Given the description of an element on the screen output the (x, y) to click on. 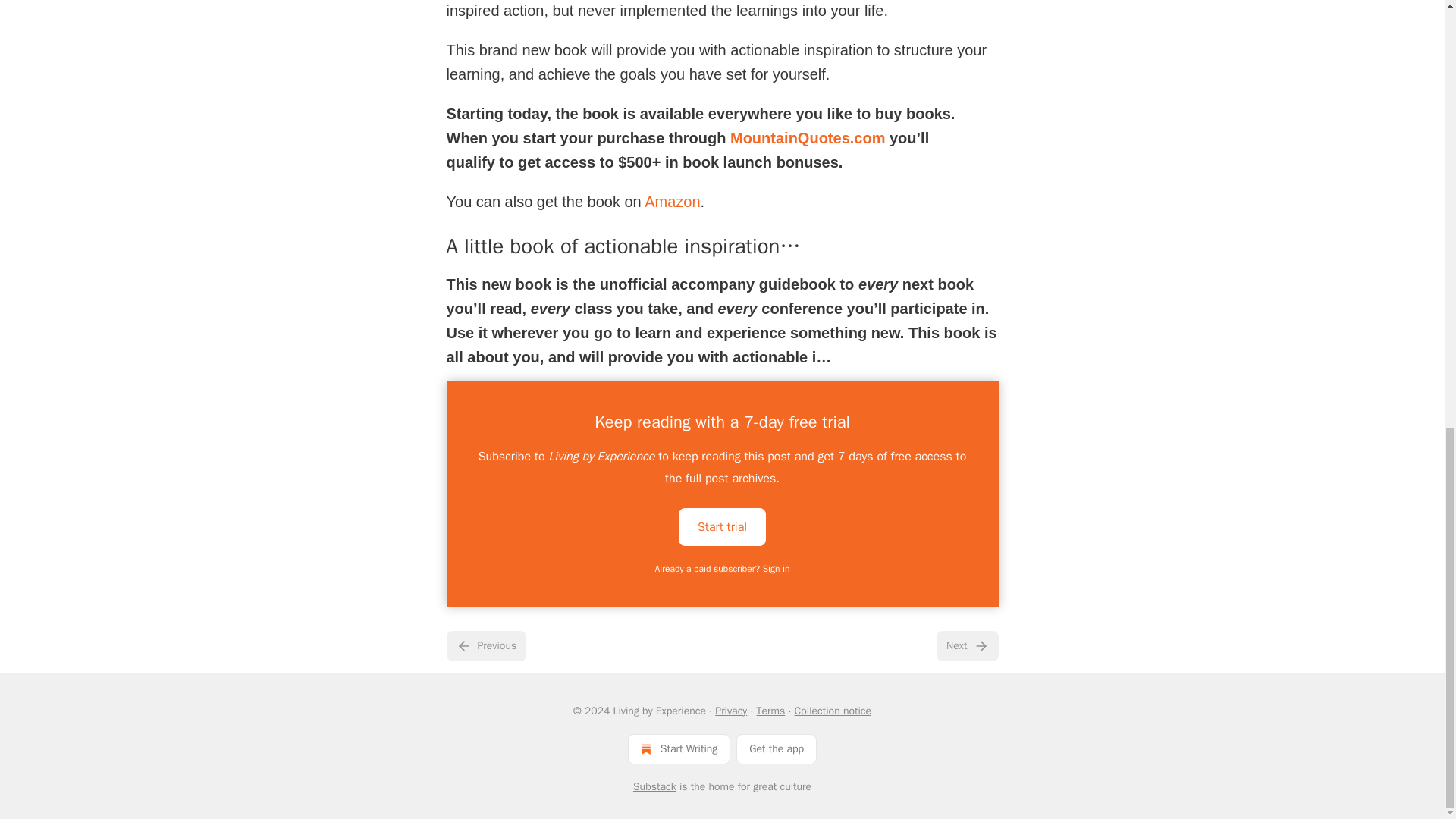
Start trial (721, 525)
Substack (655, 786)
Privacy (730, 710)
Get the app (776, 748)
Terms (771, 710)
Next (966, 645)
Amazon (672, 201)
Previous (485, 645)
MountainQuotes.com (807, 137)
Start Writing (678, 748)
